Given the description of an element on the screen output the (x, y) to click on. 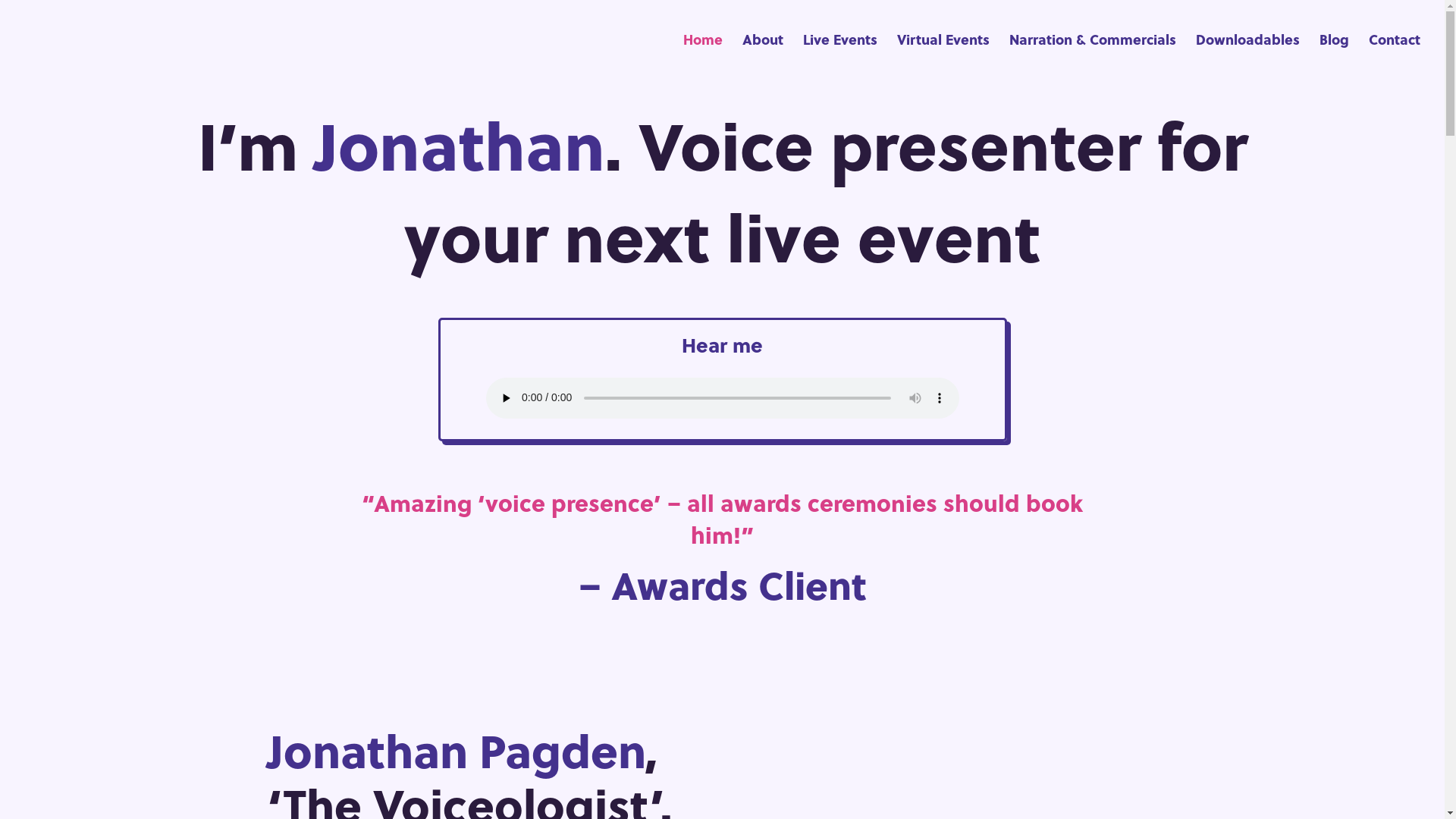
Blog Element type: text (1334, 56)
Narration & Commercials Element type: text (1092, 56)
Live Events Element type: text (840, 56)
Virtual Events Element type: text (943, 56)
Home Element type: text (702, 56)
About Element type: text (762, 56)
Downloadables Element type: text (1247, 56)
Contact Element type: text (1394, 56)
